Given the description of an element on the screen output the (x, y) to click on. 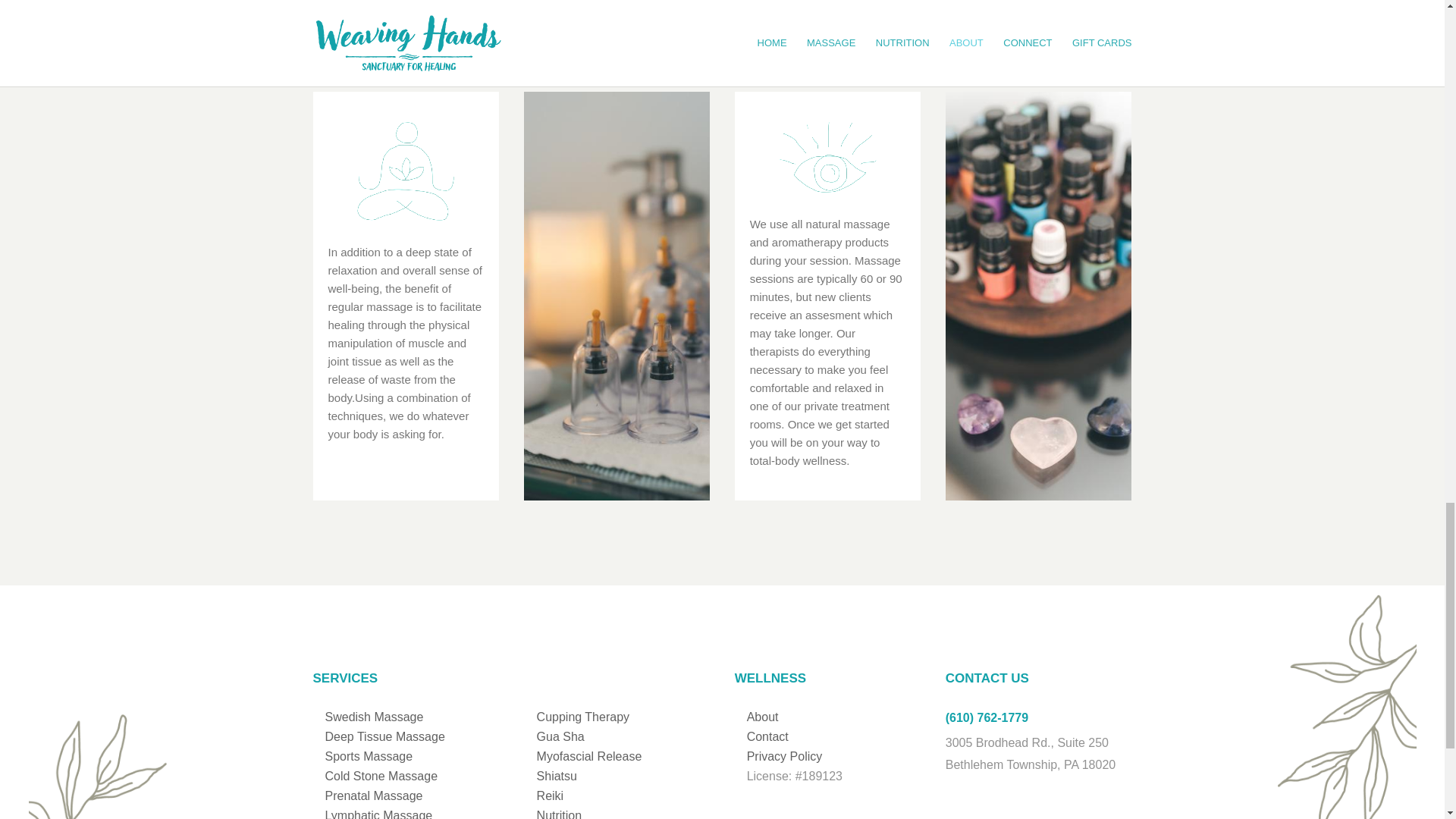
Swedish Massage (373, 716)
Myofascial Release (589, 756)
Privacy Policy (784, 756)
Cupping Therapy (582, 716)
Contact (767, 736)
Nutrition (559, 814)
Lymphatic Massage (378, 814)
Prenatal Massage (373, 795)
Sports Massage (368, 756)
Gua Sha (561, 736)
